Given the description of an element on the screen output the (x, y) to click on. 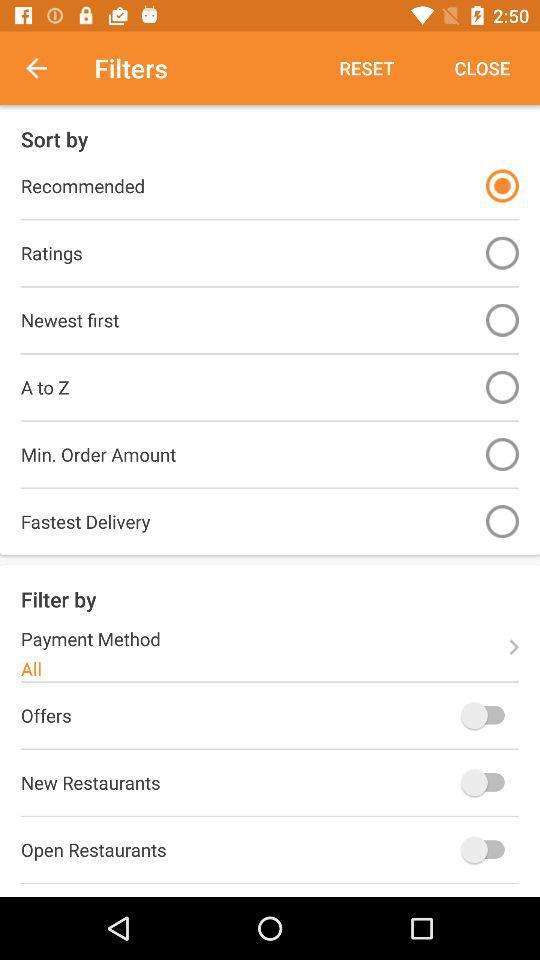
toggle new restaurants (487, 782)
